Given the description of an element on the screen output the (x, y) to click on. 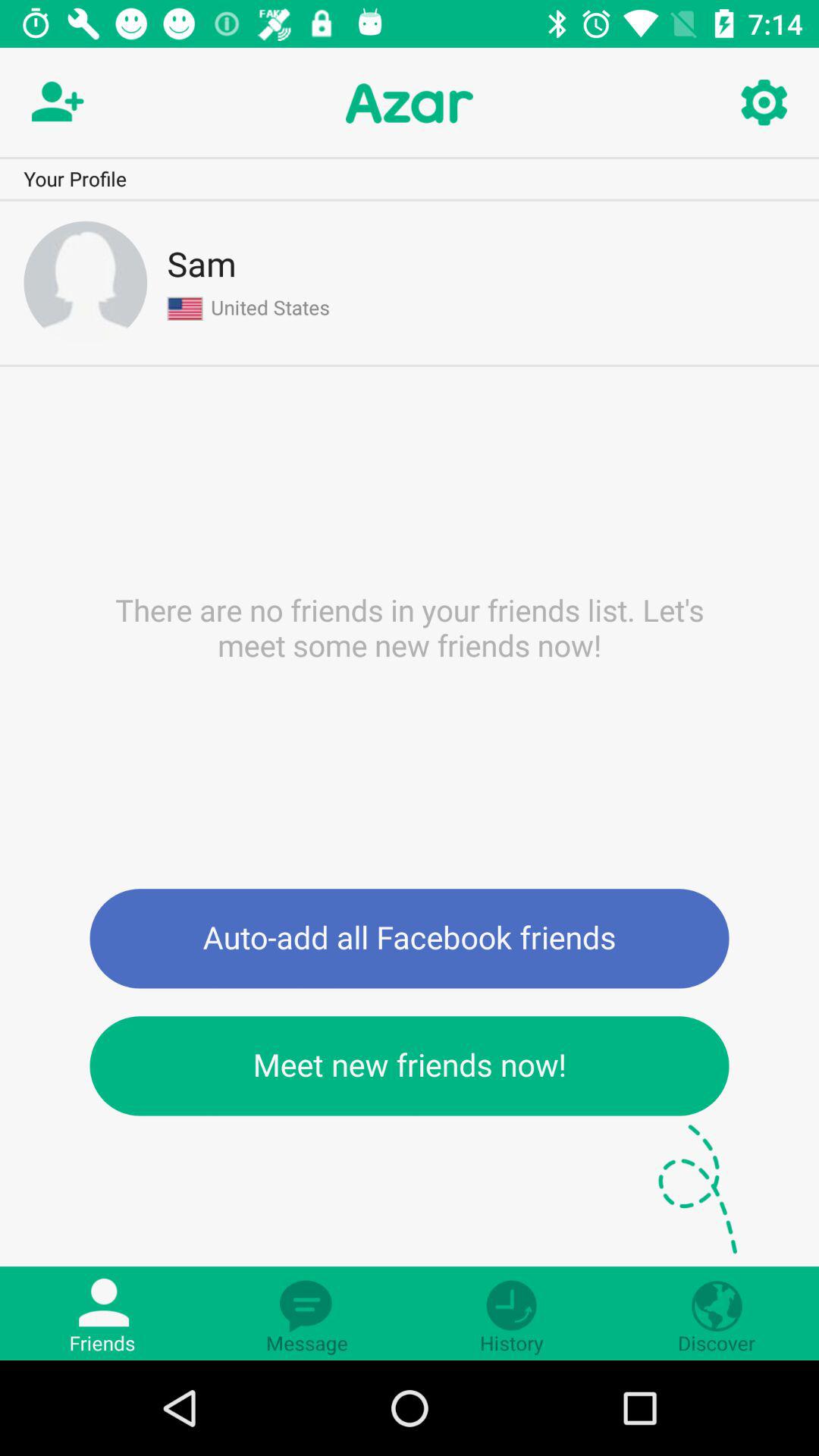
tap the item below the there are no (409, 938)
